Given the description of an element on the screen output the (x, y) to click on. 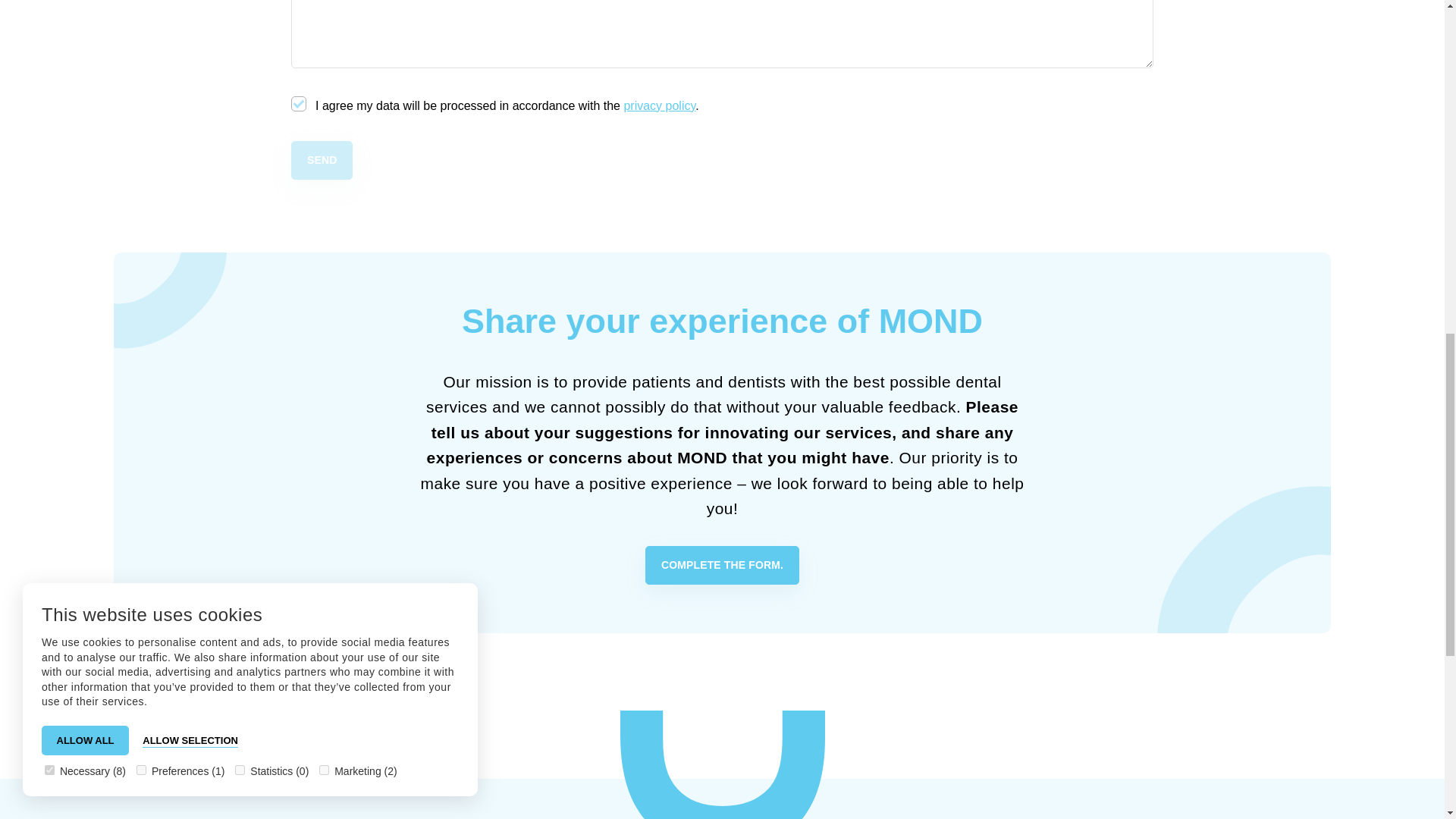
SEND (321, 159)
COMPLETE THE FORM. (722, 565)
privacy policy (659, 105)
